Given the description of an element on the screen output the (x, y) to click on. 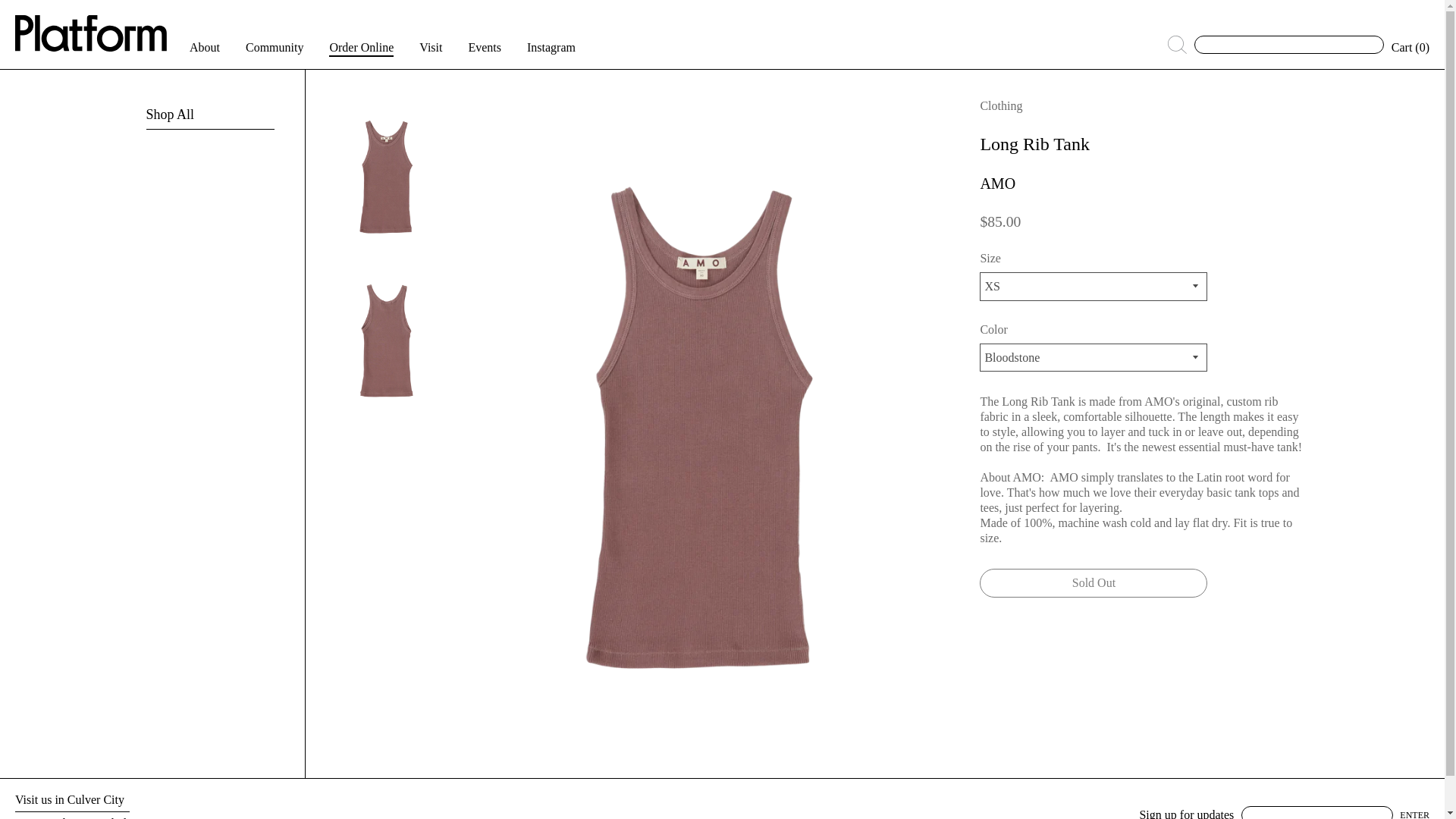
Visit (430, 47)
Events (483, 47)
Shop All (169, 114)
Sold Out (1093, 582)
ENTER (1414, 813)
Order Online (361, 47)
Instagram (551, 47)
ENTER (1414, 813)
AMO (996, 183)
About (204, 47)
Community (274, 47)
